Given the description of an element on the screen output the (x, y) to click on. 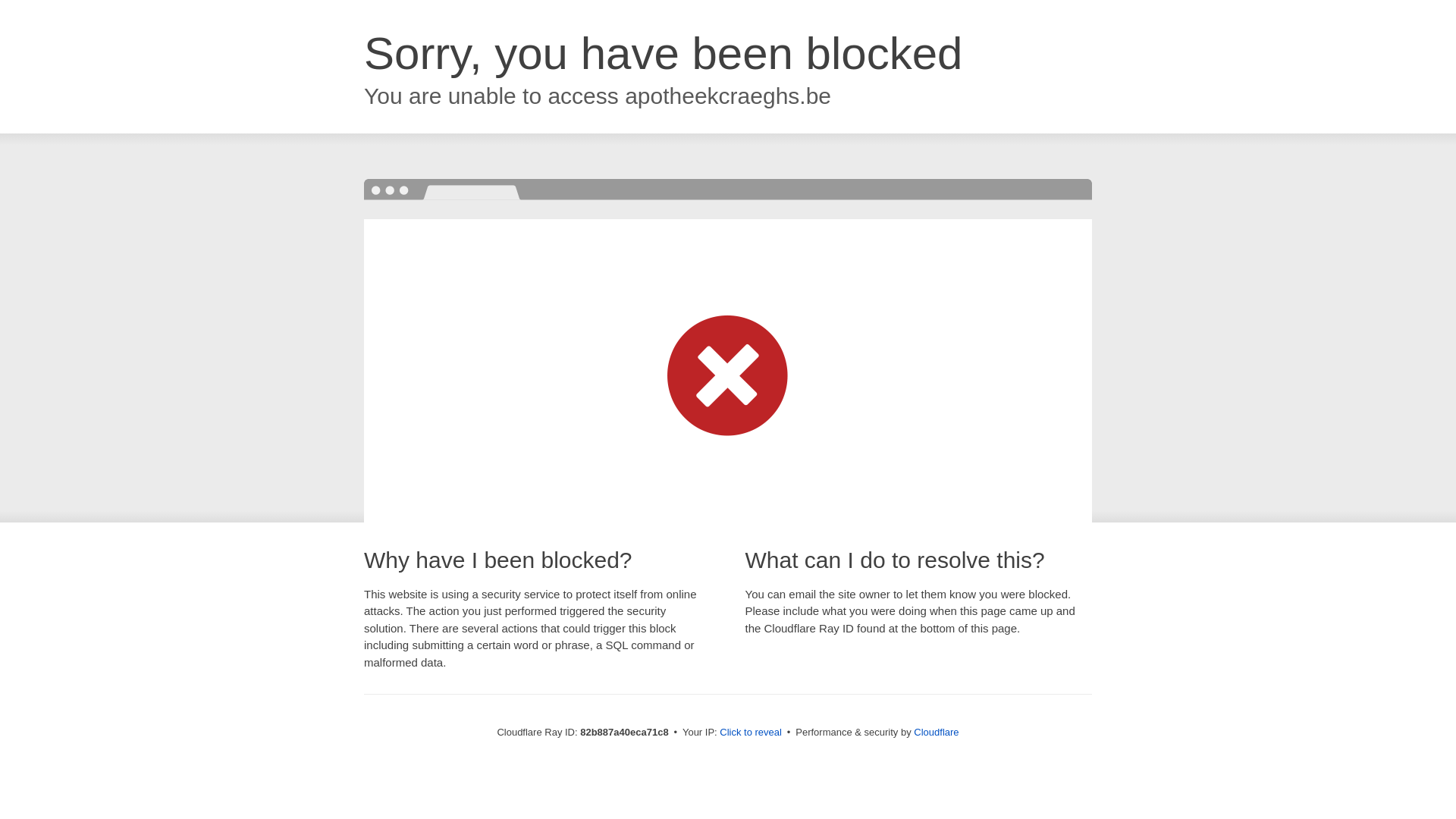
Click to reveal Element type: text (750, 732)
Cloudflare Element type: text (935, 731)
